Given the description of an element on the screen output the (x, y) to click on. 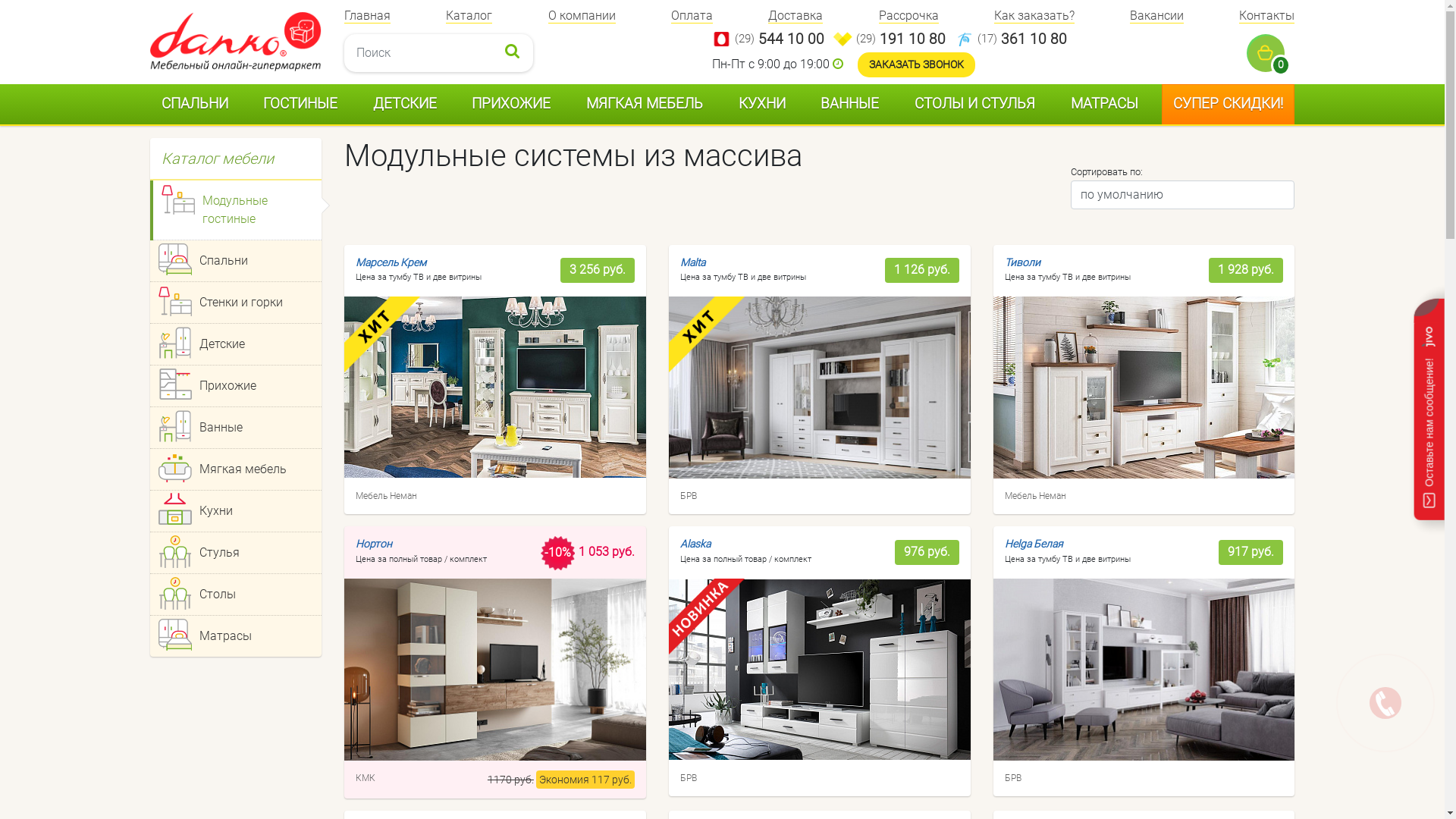
(17) 361 10 80 Element type: text (1021, 38)
Alaska Element type: text (745, 543)
Malta Element type: text (743, 262)
(29) 544 10 00 Element type: text (779, 38)
0 Element type: text (1270, 53)
(29) 191 10 80 Element type: text (900, 38)
